Given the description of an element on the screen output the (x, y) to click on. 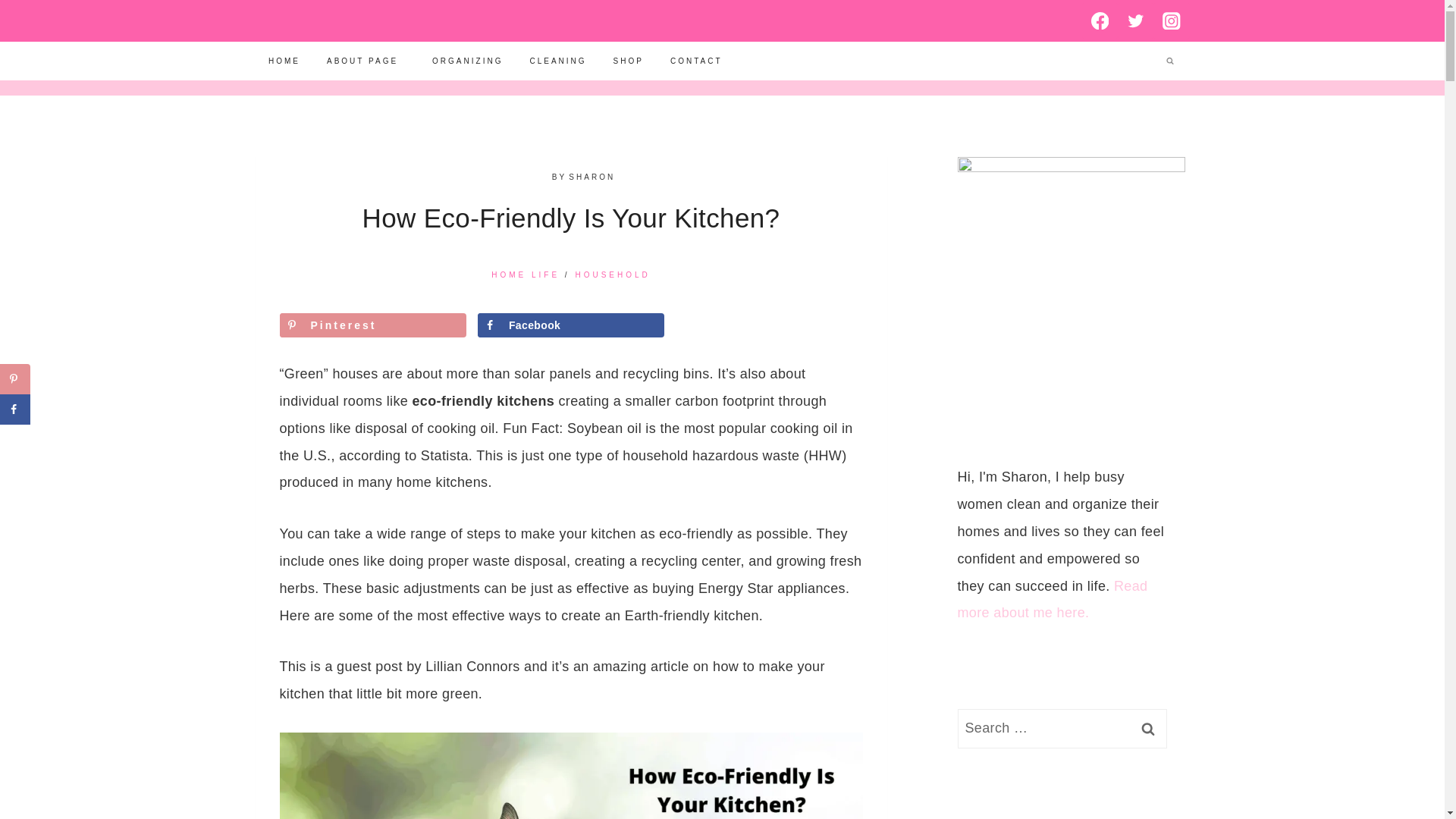
SHOP (627, 61)
CONTACT (695, 61)
HOME LIFE (525, 275)
Search (1147, 728)
SHARON (591, 176)
Pinterest (372, 324)
Share on X (15, 440)
HOME (283, 61)
Save to Pinterest (372, 324)
HOUSEHOLD (612, 275)
